Given the description of an element on the screen output the (x, y) to click on. 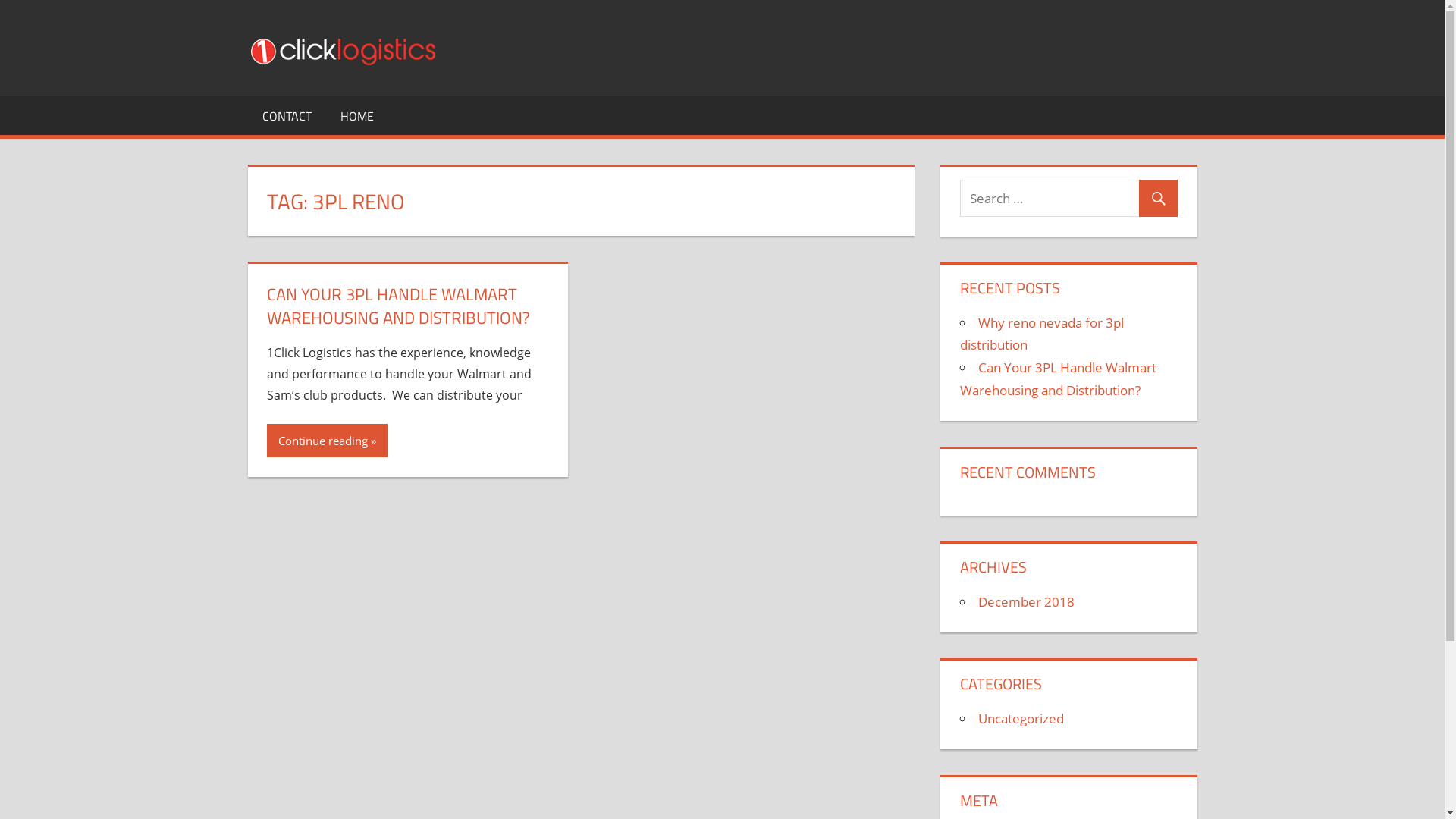
Uncategorized Element type: text (1020, 718)
Skip to content Element type: text (0, 0)
Why reno nevada for 3pl distribution Element type: text (1041, 333)
Can Your 3PL Handle Walmart Warehousing and Distribution? Element type: text (1058, 378)
CONTACT Element type: text (286, 114)
CAN YOUR 3PL HANDLE WALMART WAREHOUSING AND DISTRIBUTION? Element type: text (398, 305)
December 2018 Element type: text (1026, 601)
Continue reading Element type: text (326, 440)
Search for: Element type: hover (1068, 197)
HOME Element type: text (357, 114)
